Given the description of an element on the screen output the (x, y) to click on. 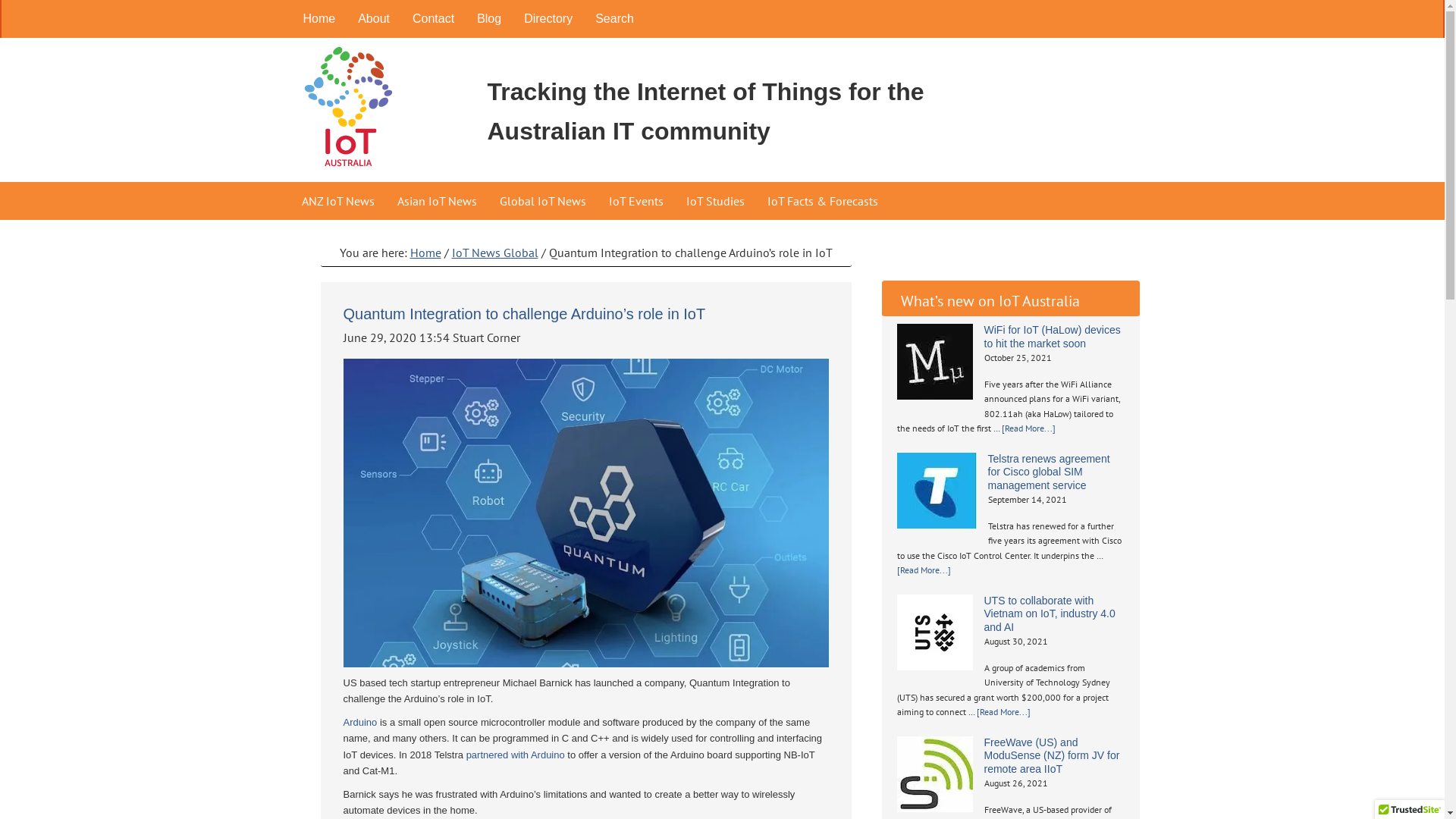
IoT Events Element type: text (635, 200)
Quantum Integration is challenging Arduinio's role in IoT Element type: hover (585, 512)
Directory Element type: text (547, 18)
IoT Facts & Forecasts Element type: text (821, 200)
Arduino Element type: text (359, 722)
partnered with Arduino Element type: text (515, 754)
ANZ IoT News Element type: text (337, 200)
Global IoT News Element type: text (542, 200)
UTS to collaborate with Vietnam on IoT, industry 4.0 and AI Element type: text (1049, 613)
Home Element type: text (424, 252)
Tracking The Internet of Things Element type: text (372, 110)
IoT Studies Element type: text (715, 200)
IoT News Global Element type: text (494, 252)
Blog Element type: text (488, 18)
About Element type: text (373, 18)
Asian IoT News Element type: text (436, 200)
Home Element type: text (318, 18)
Search Element type: text (614, 18)
Contact Element type: text (433, 18)
WiFi for IoT (HaLow) devices to hit the market soon Element type: text (1052, 336)
